Given the description of an element on the screen output the (x, y) to click on. 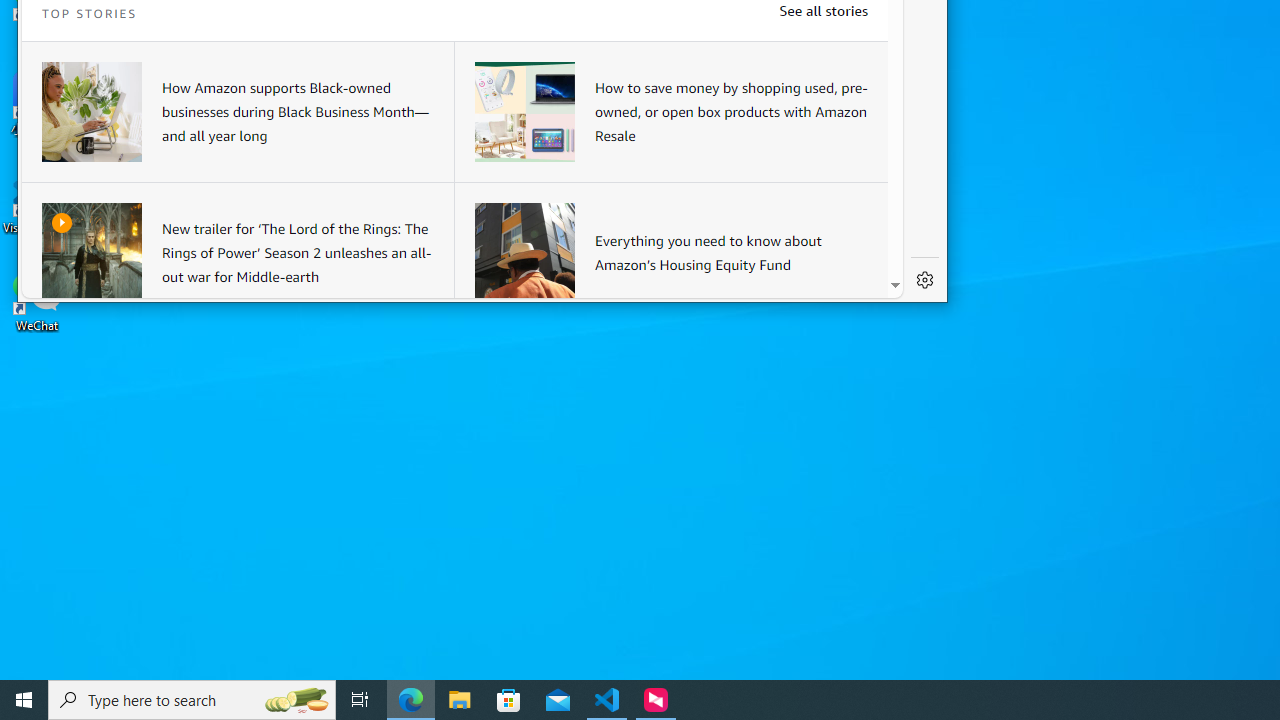
A woman sitting at a desk working on a laptop device. (92, 111)
Microsoft Store (509, 699)
Visual Studio Code - 1 running window (607, 699)
A woman sitting at a desk working on a laptop device. (92, 111)
